Given the description of an element on the screen output the (x, y) to click on. 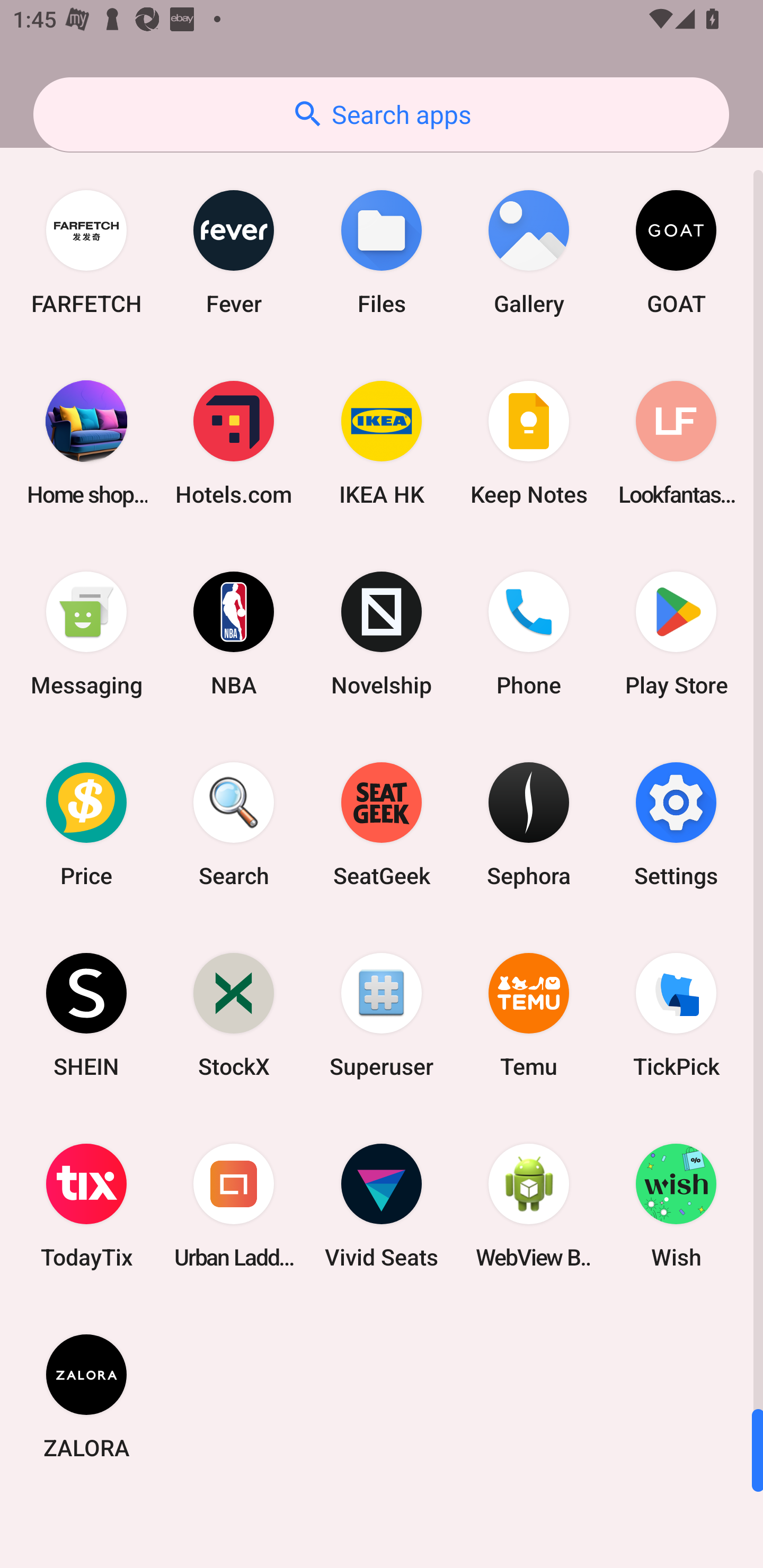
  Search apps (381, 114)
FARFETCH (86, 252)
Fever (233, 252)
Files (381, 252)
Gallery (528, 252)
GOAT (676, 252)
Home shopping (86, 442)
Hotels.com (233, 442)
IKEA HK (381, 442)
Keep Notes (528, 442)
Lookfantastic (676, 442)
Messaging (86, 633)
NBA (233, 633)
Novelship (381, 633)
Phone (528, 633)
Play Store (676, 633)
Price (86, 823)
Search (233, 823)
SeatGeek (381, 823)
Sephora (528, 823)
Settings (676, 823)
SHEIN (86, 1014)
StockX (233, 1014)
Superuser (381, 1014)
Temu (528, 1014)
TickPick (676, 1014)
TodayTix (86, 1205)
Urban Ladder (233, 1205)
Vivid Seats (381, 1205)
WebView Browser Tester (528, 1205)
Wish (676, 1205)
ZALORA (86, 1396)
